Given the description of an element on the screen output the (x, y) to click on. 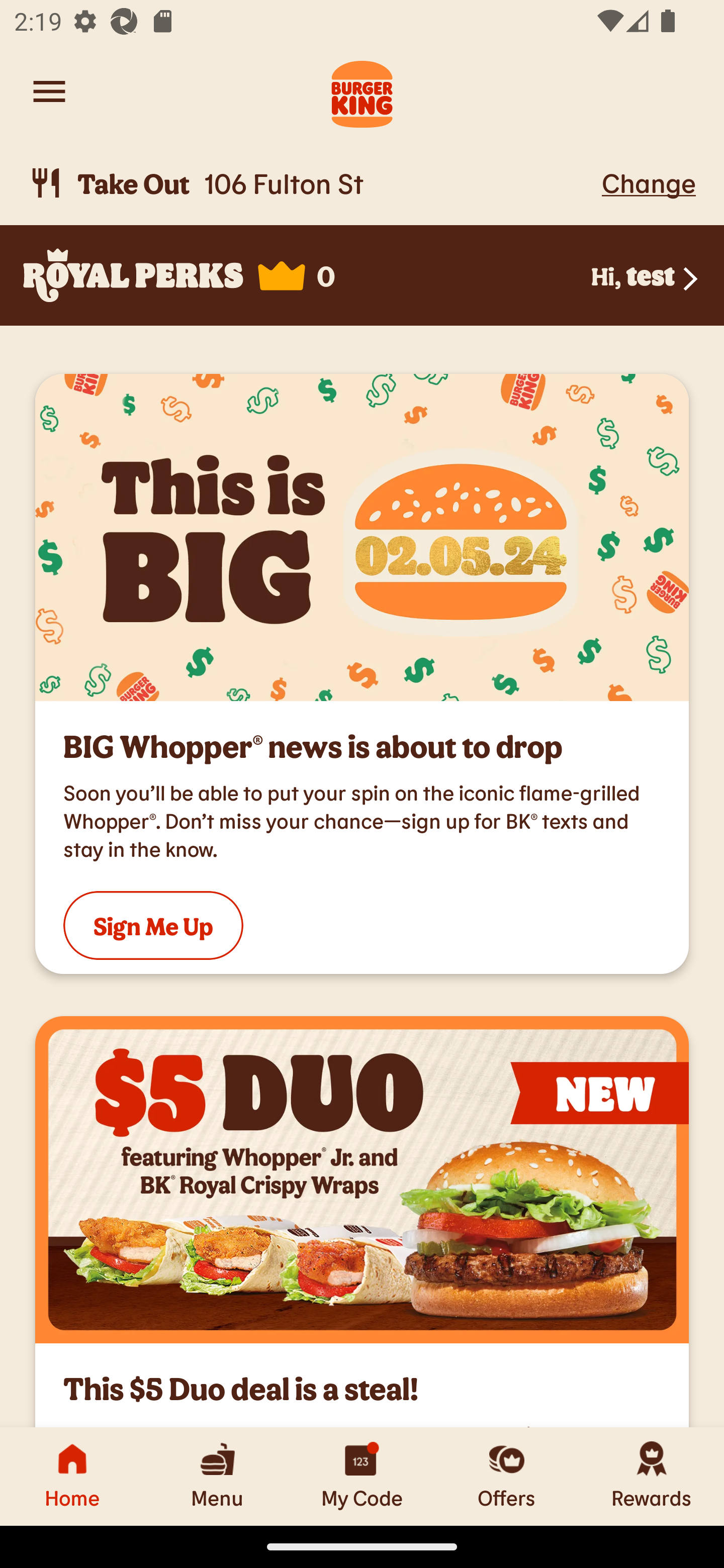
Burger King Logo. Navigate to Home (362, 91)
Navigate to account menu  (49, 91)
Take Out, 106 Fulton St  Take Out 106 Fulton St (311, 183)
Change (648, 182)
MDW Teaser Auth App (361, 536)
Sign Me Up (153, 924)
$5 Duo ft. Wraps  (361, 1179)
Home (72, 1475)
Menu (216, 1475)
My Code (361, 1475)
Offers (506, 1475)
Rewards (651, 1475)
